Given the description of an element on the screen output the (x, y) to click on. 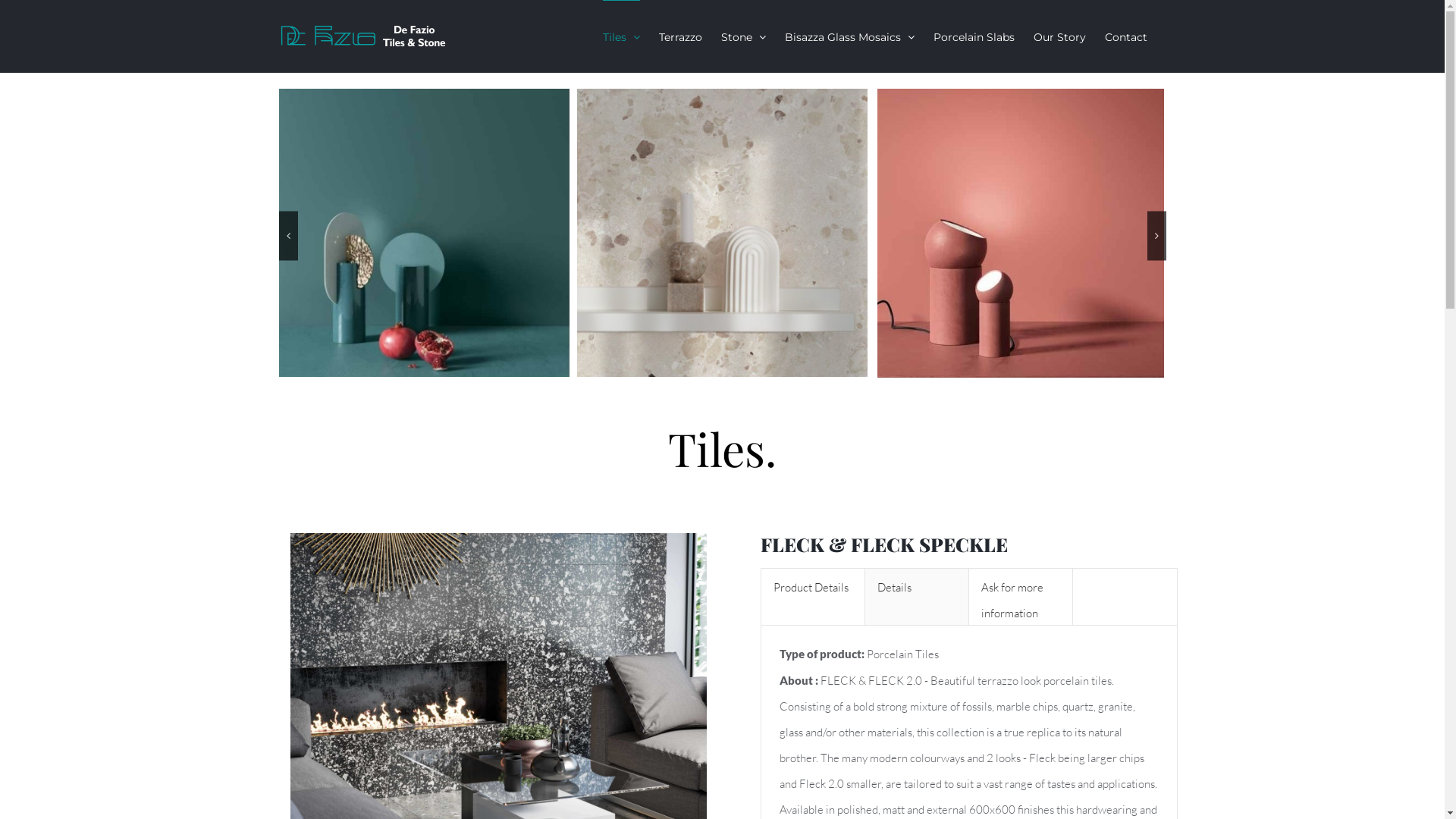
Bisazza Glass Mosaics Element type: text (848, 36)
Our Story Element type: text (1058, 36)
Stone Element type: text (742, 36)
Porcelain Slabs Element type: text (972, 36)
Tiles Element type: text (620, 36)
Contact Element type: text (1125, 36)
Terrazzo Element type: text (679, 36)
